Given the description of an element on the screen output the (x, y) to click on. 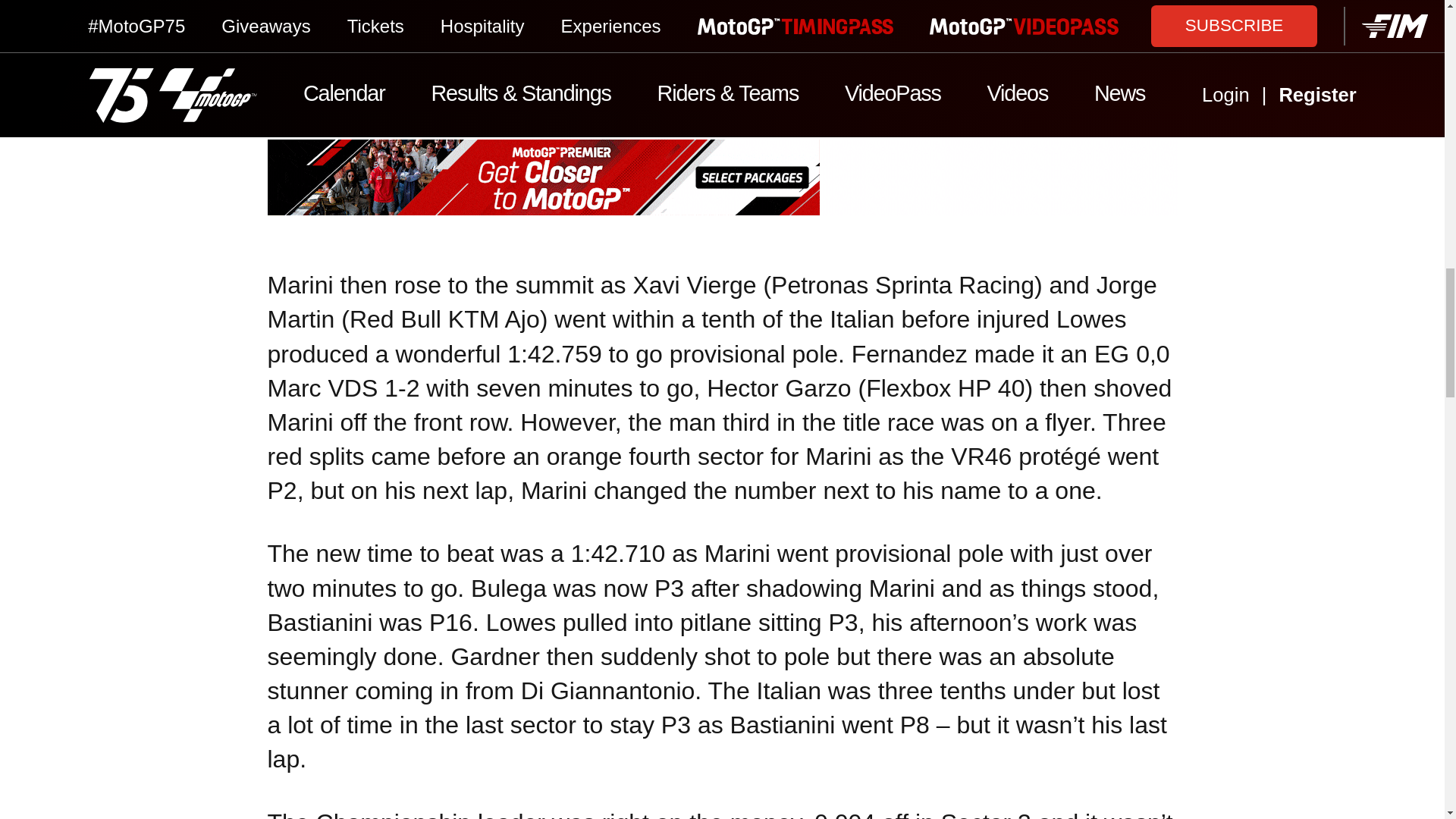
3rd party ad content (721, 177)
